Given the description of an element on the screen output the (x, y) to click on. 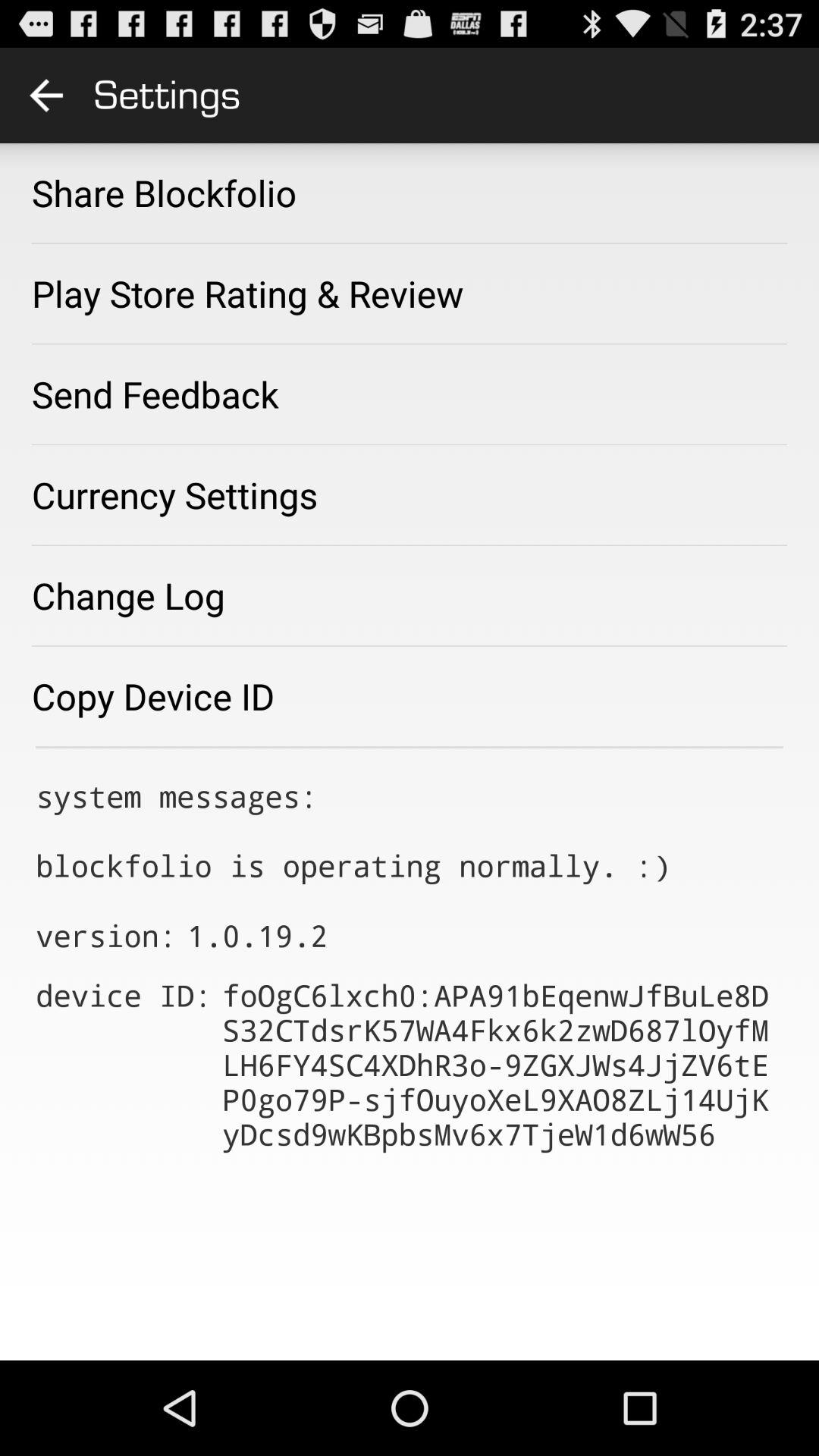
click the app next to version: icon (257, 935)
